Given the description of an element on the screen output the (x, y) to click on. 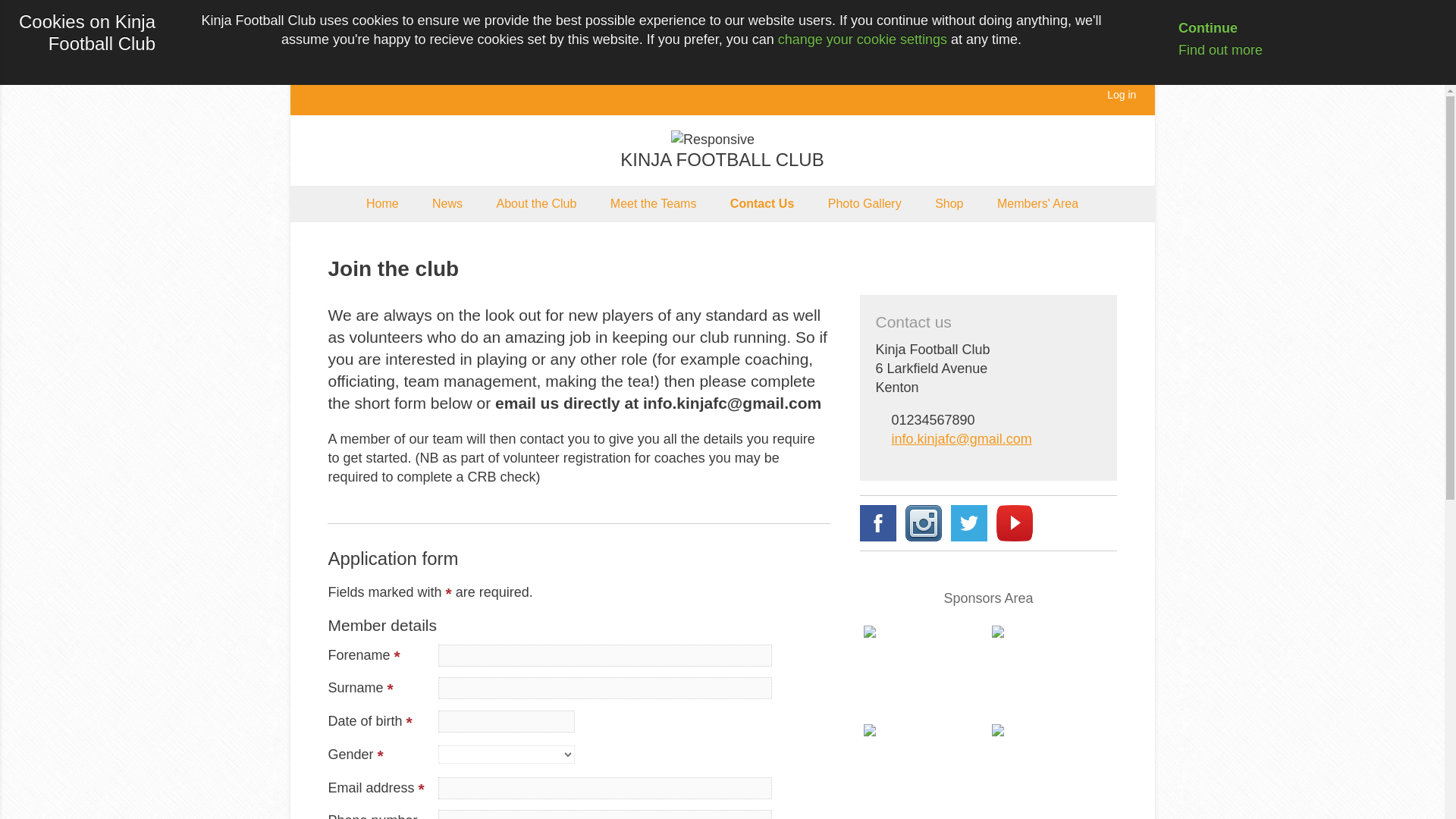
Continue (1195, 28)
Follow us on Twitter (968, 523)
Subscribe to our YouTube channel (1013, 523)
Find out more (1208, 49)
Follow us on Instagram (923, 523)
change your cookie settings (862, 38)
Follow us on Facebook (878, 523)
